Given the description of an element on the screen output the (x, y) to click on. 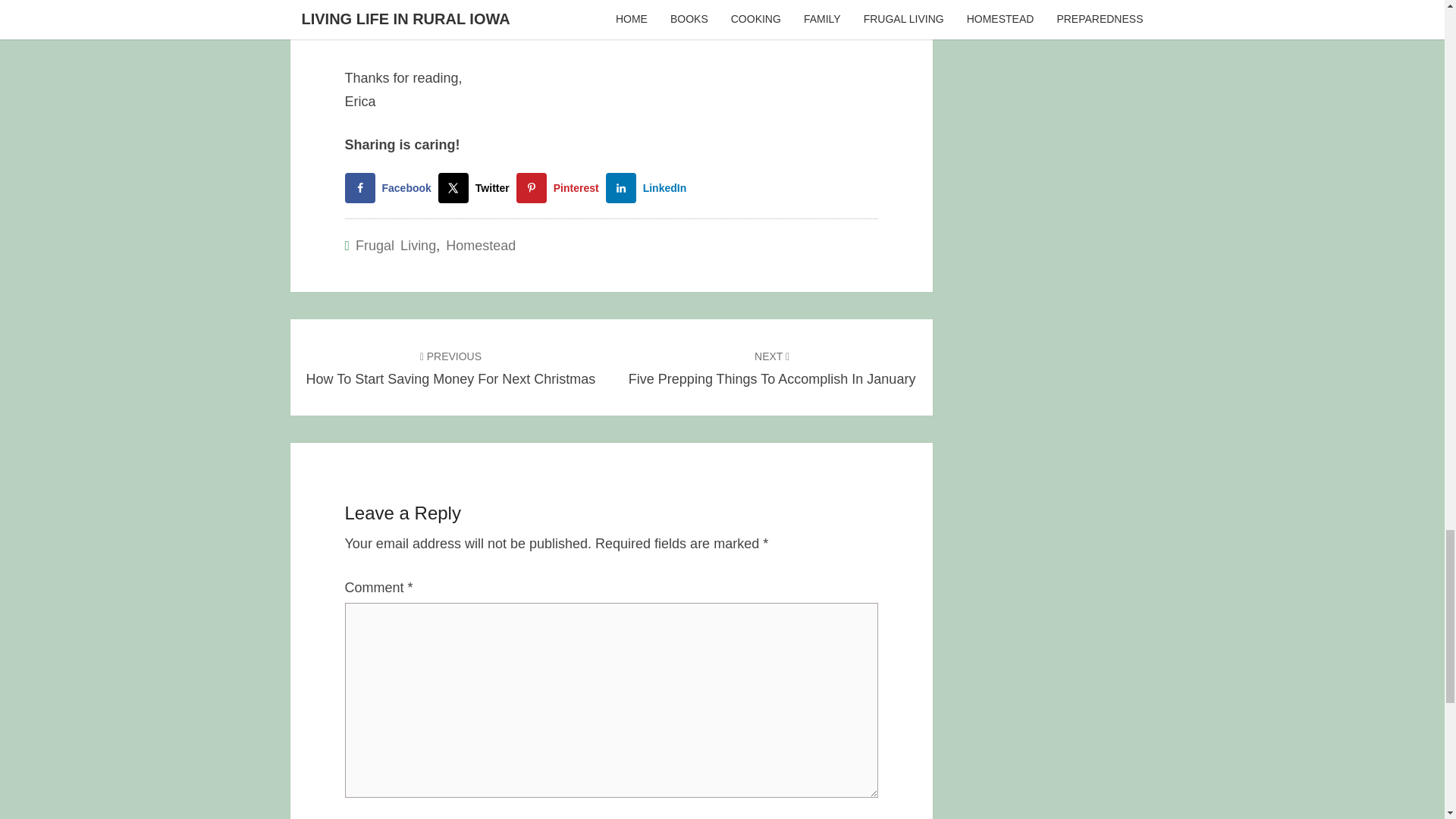
LinkedIn (649, 187)
Homestead (480, 245)
Save to Pinterest (560, 187)
Twitter (477, 187)
Facebook (390, 187)
Pinterest (560, 187)
Share on Facebook (390, 187)
Share on X (450, 367)
